Given the description of an element on the screen output the (x, y) to click on. 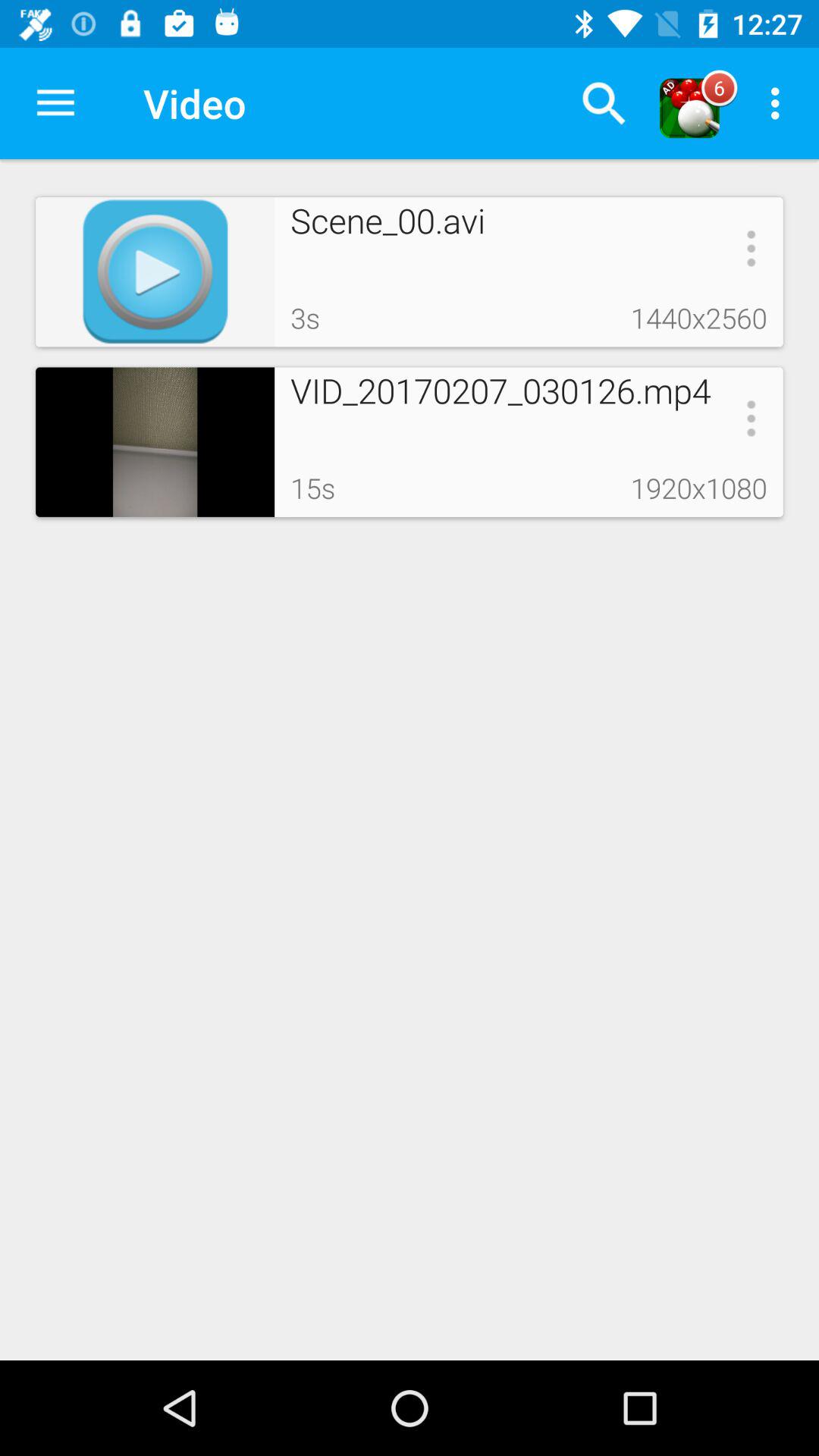
choose the item to the left of video (55, 103)
